Given the description of an element on the screen output the (x, y) to click on. 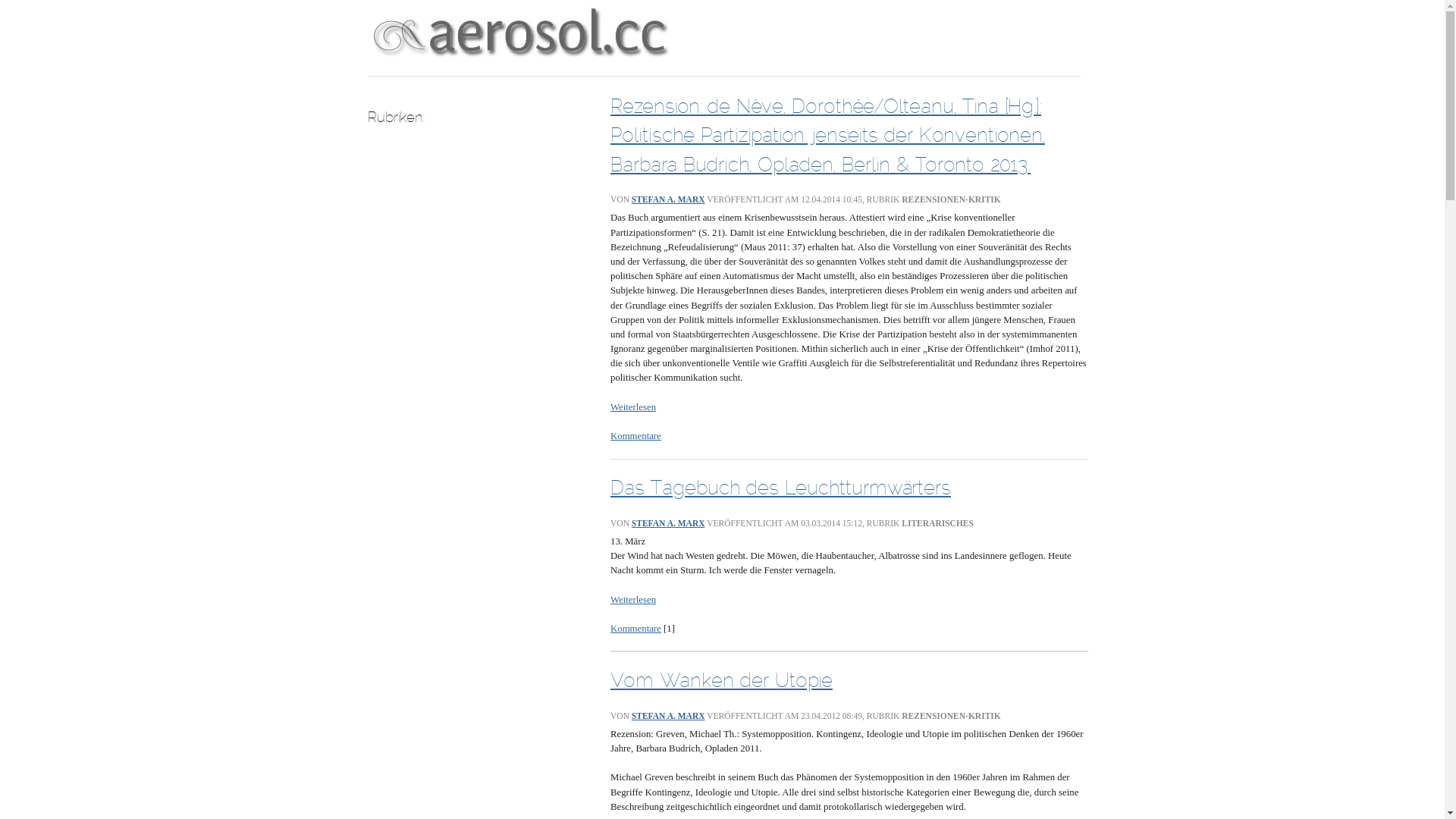
Weiterlesen Element type: text (632, 406)
STEFAN A. MARX Element type: text (668, 715)
Kommentare Element type: text (635, 628)
Vom Wanken der Utopie Element type: text (721, 679)
geniess die frische Element type: hover (519, 30)
Weiterlesen Element type: text (632, 599)
STEFAN A. MARX Element type: text (668, 198)
Kommentare Element type: text (635, 435)
STEFAN A. MARX Element type: text (668, 522)
